Given the description of an element on the screen output the (x, y) to click on. 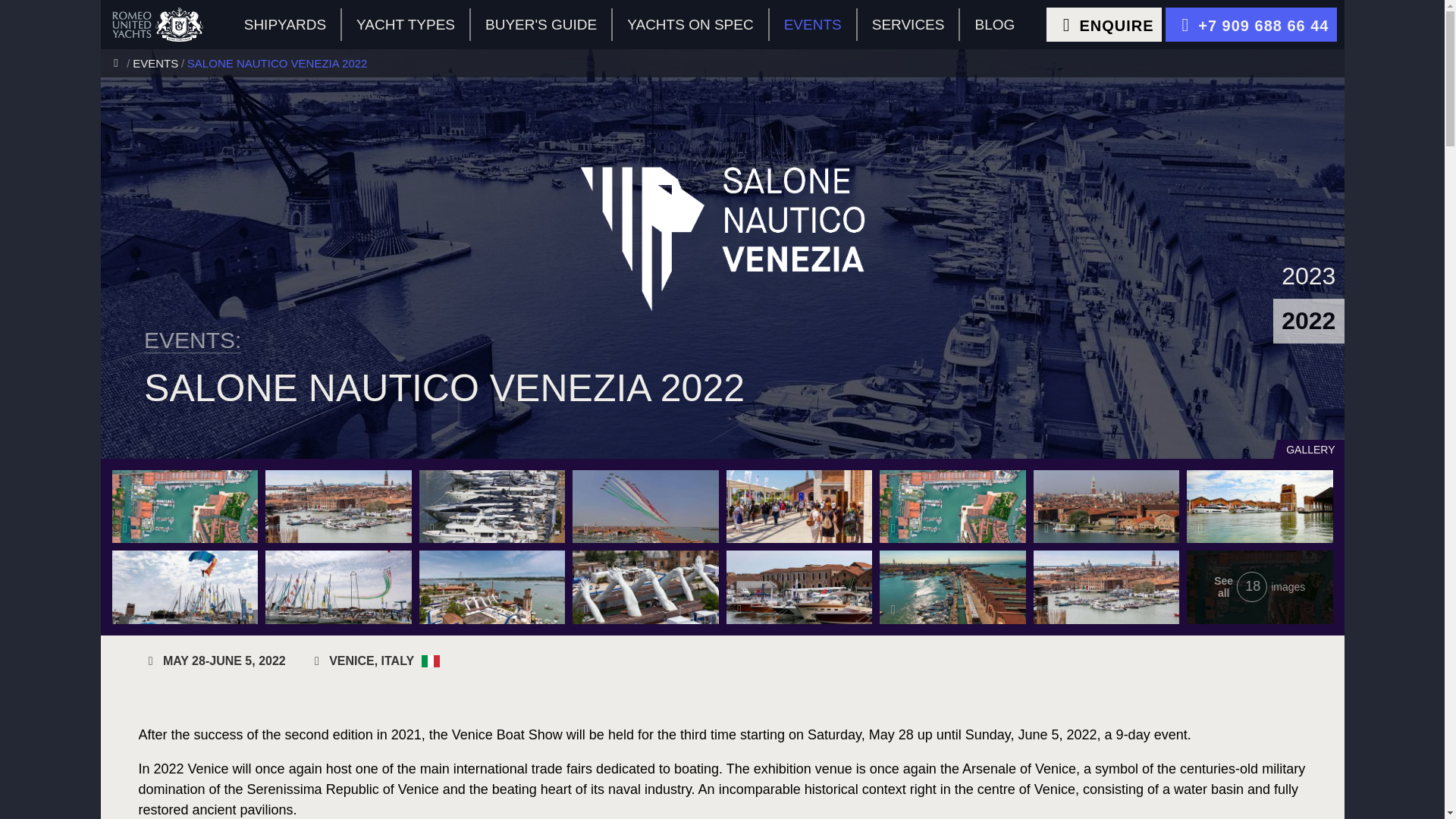
ENQUIRE (1103, 24)
EVENTS (813, 24)
2023 (1307, 275)
SERVICES (908, 24)
BLOG (994, 24)
YACHT TYPES (406, 24)
EVENTS (159, 62)
ENQUIRE (1103, 24)
YACHTS ON SPEC (690, 24)
BUYER'S GUIDE (541, 24)
EVENTS: (192, 340)
SHIPYARDS (286, 24)
